Given the description of an element on the screen output the (x, y) to click on. 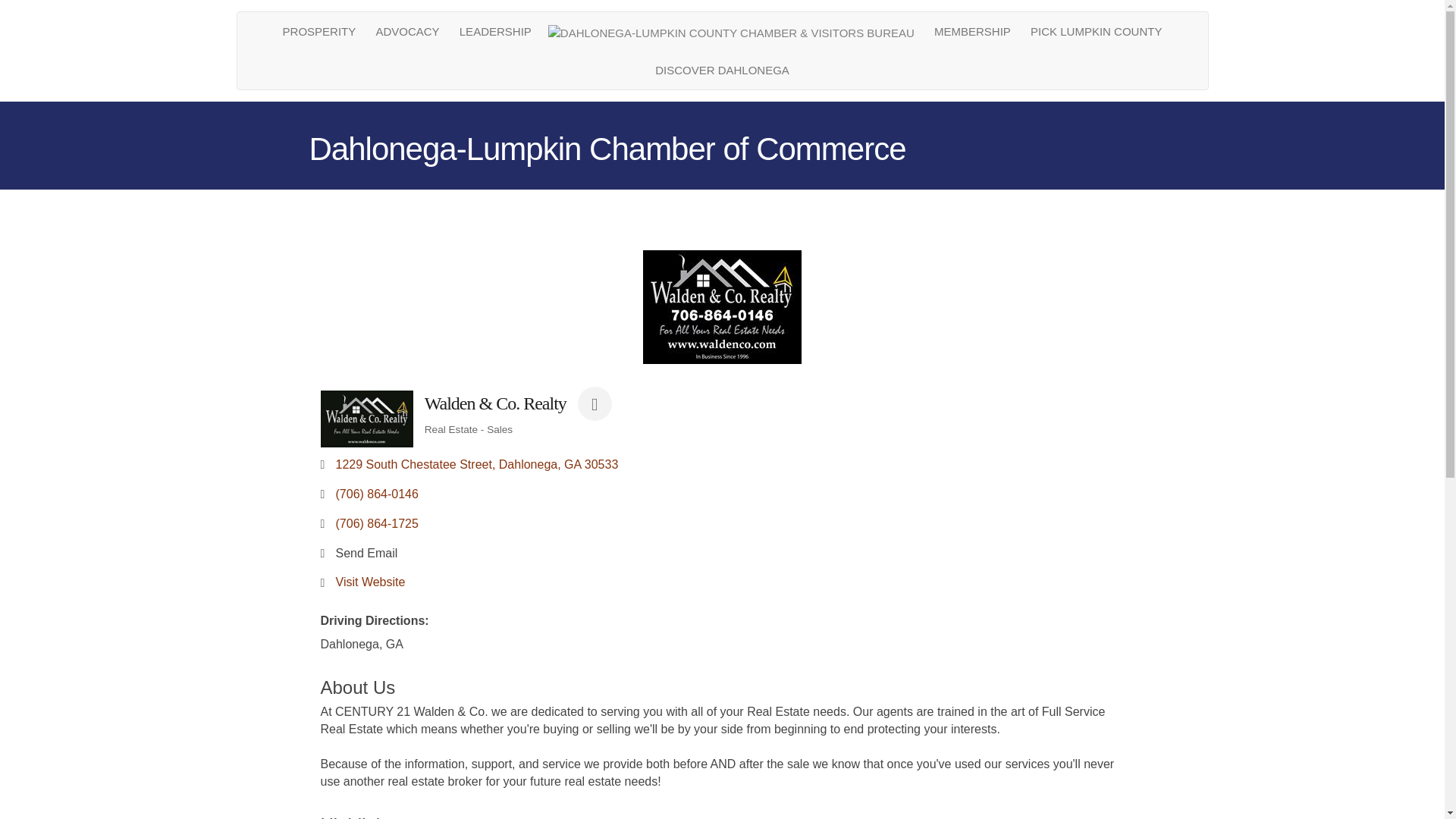
ADVOCACY (406, 31)
LEADERSHIP (495, 31)
PROSPERITY (320, 31)
